Given the description of an element on the screen output the (x, y) to click on. 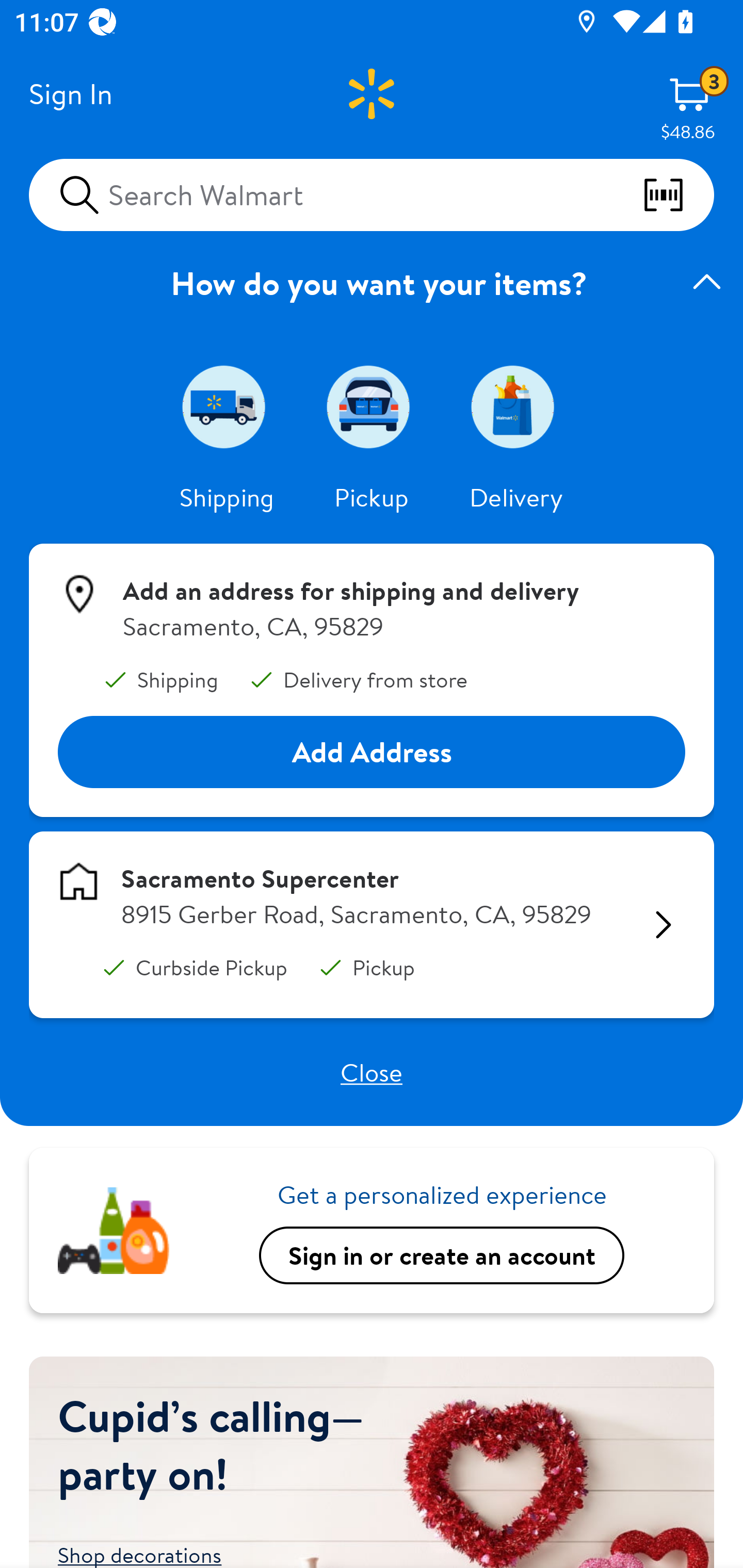
Sign In (70, 93)
Search Walmart scan barcodes qr codes and more (371, 194)
scan barcodes qr codes and more (677, 195)
How do you want your items? expanded (371, 282)
Shipping 1 of 3 (226, 406)
Pickup 2 of 3 (371, 406)
Delivery 3 of 3 (515, 406)
Add Address (371, 752)
Close (371, 1072)
Sign in or create an account (441, 1255)
